Given the description of an element on the screen output the (x, y) to click on. 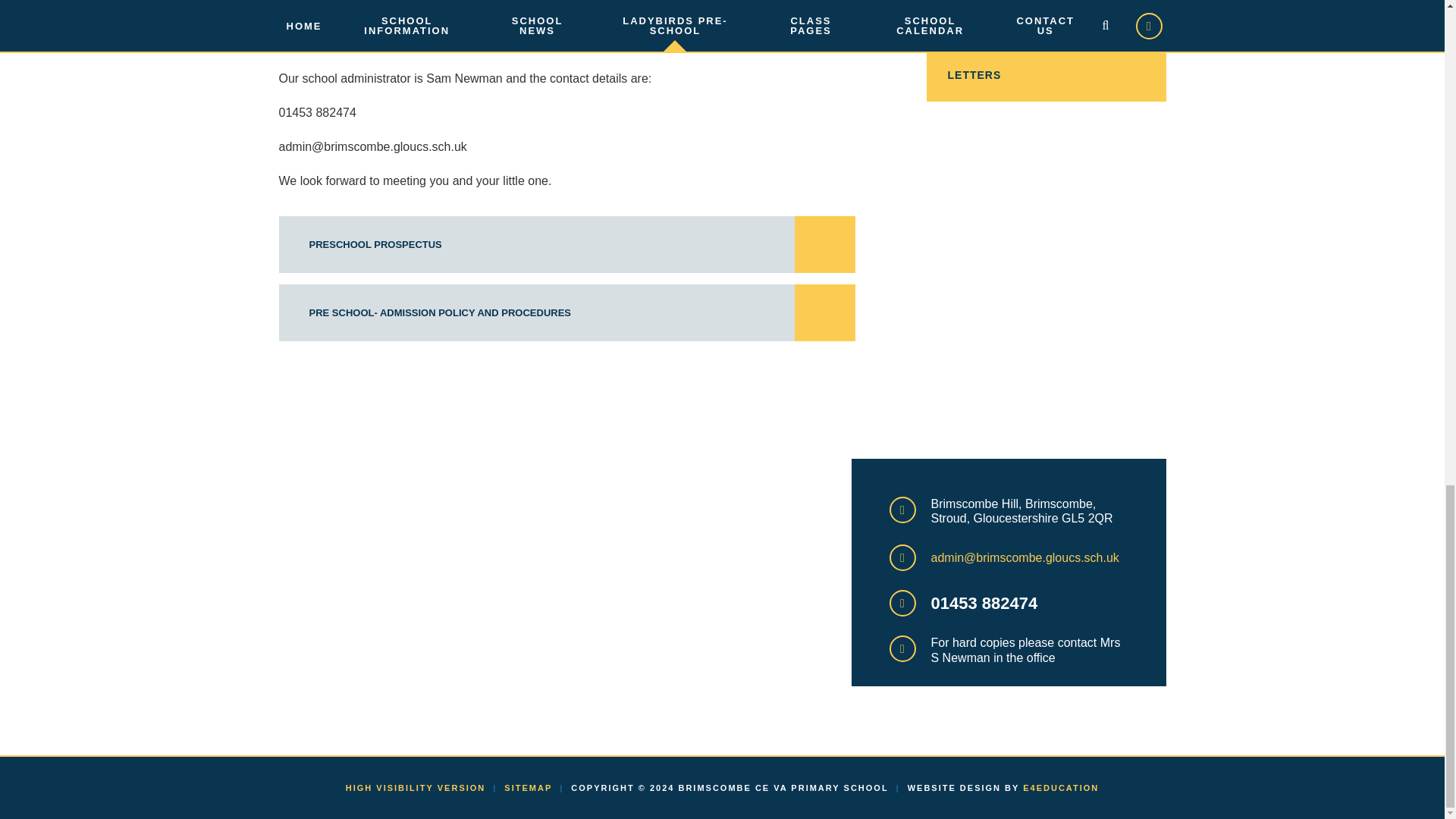
Download (824, 312)
Download (824, 243)
